Given the description of an element on the screen output the (x, y) to click on. 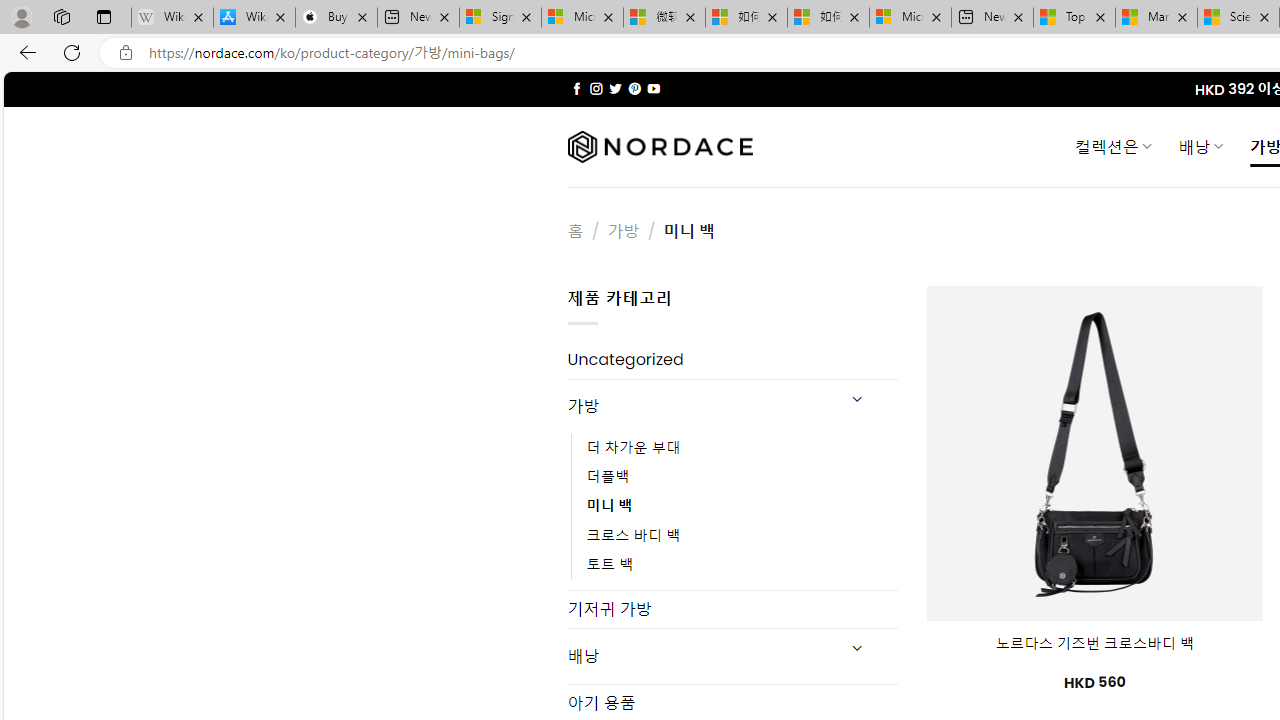
Follow on Twitter (615, 88)
Marine life - MSN (1156, 17)
Buy iPad - Apple (336, 17)
Uncategorized (732, 359)
